Given the description of an element on the screen output the (x, y) to click on. 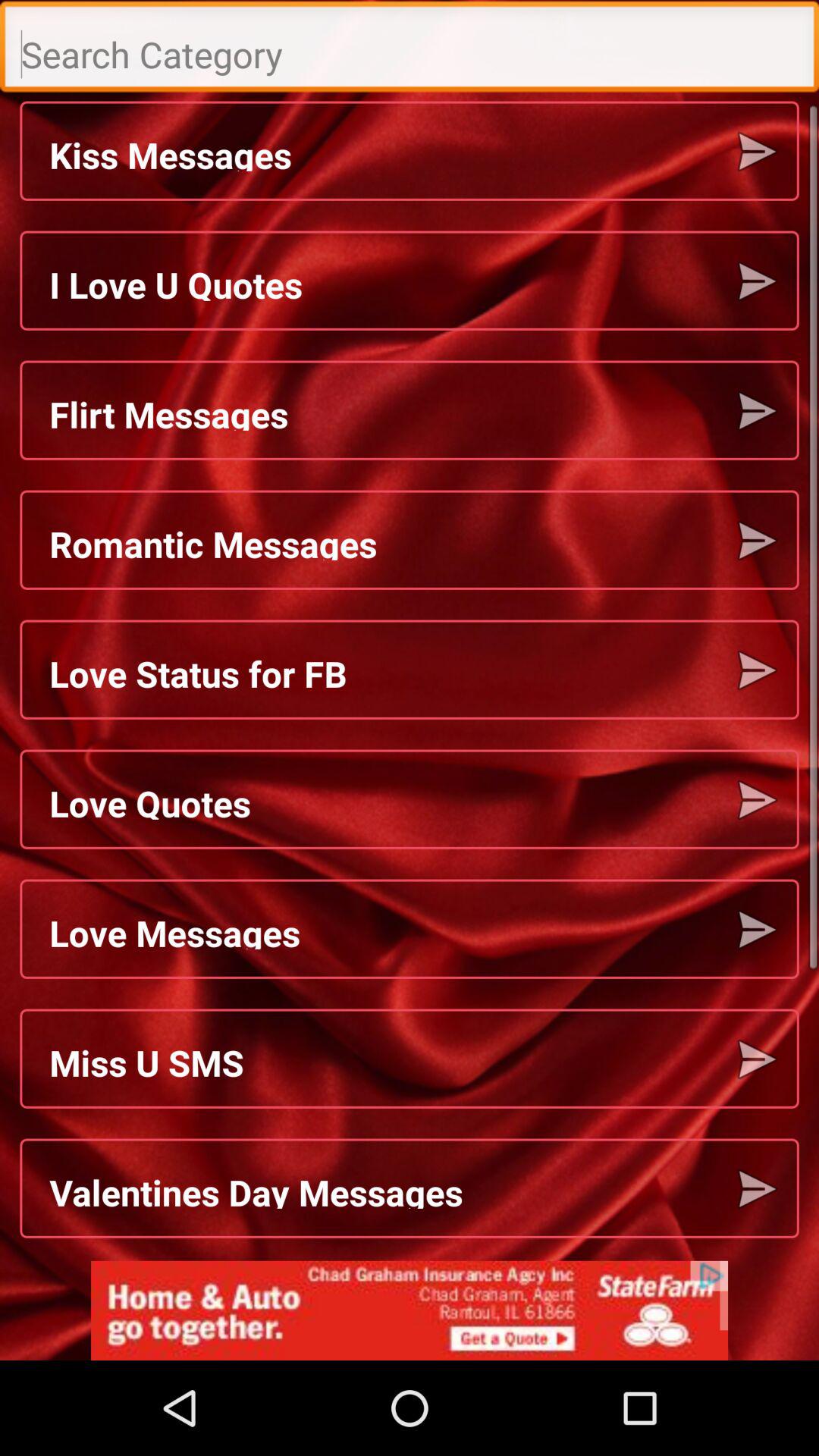
type the search (409, 50)
